Given the description of an element on the screen output the (x, y) to click on. 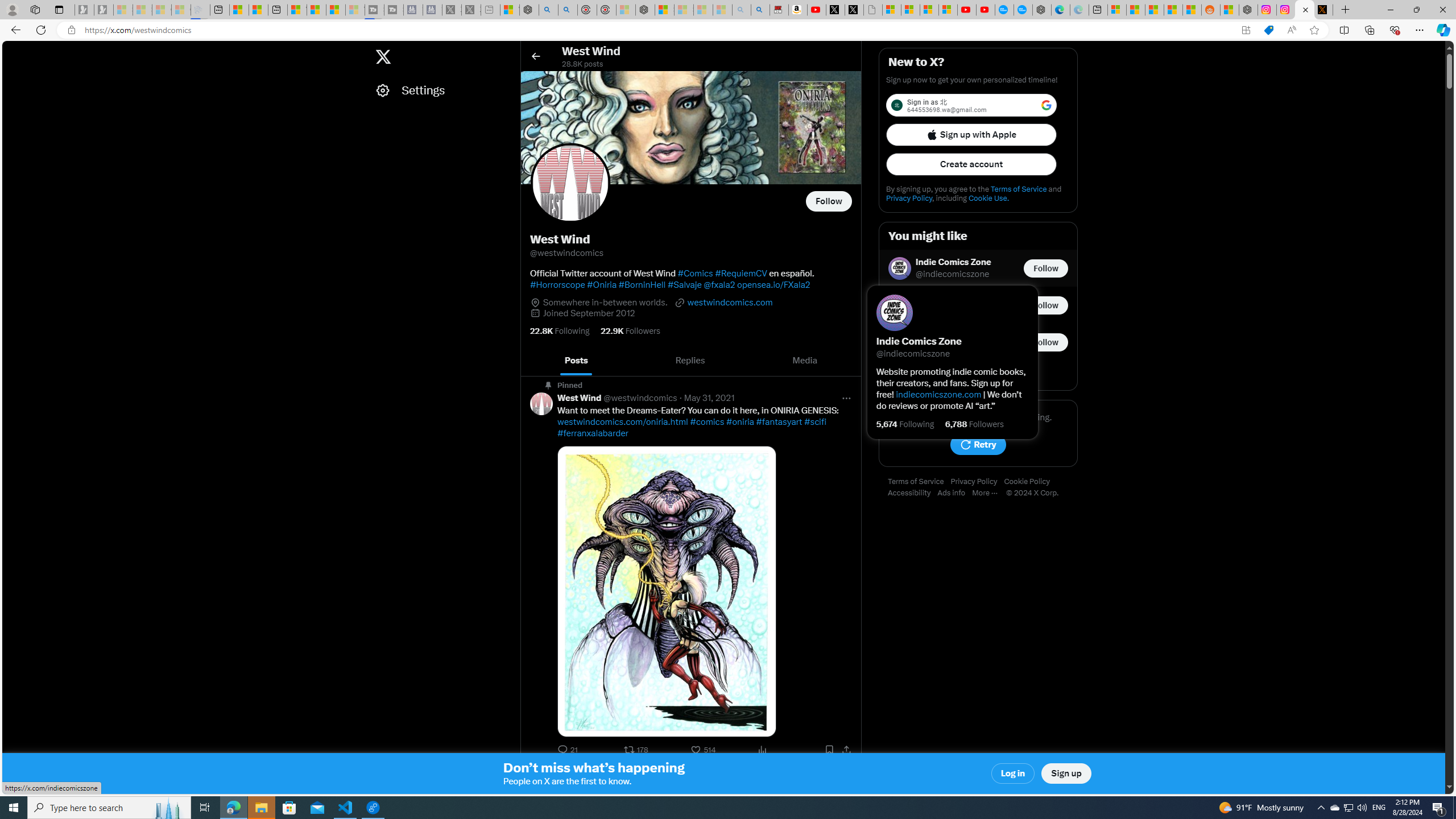
Apr 12 (696, 775)
help.x.com | 524: A timeout occurred (1323, 9)
Untitled (872, 9)
poe ++ standard - Search (567, 9)
Dean Robert Willetts @deanetts Follow @deanetts (978, 305)
Log in (1013, 773)
West Wind (579, 775)
